Given the description of an element on the screen output the (x, y) to click on. 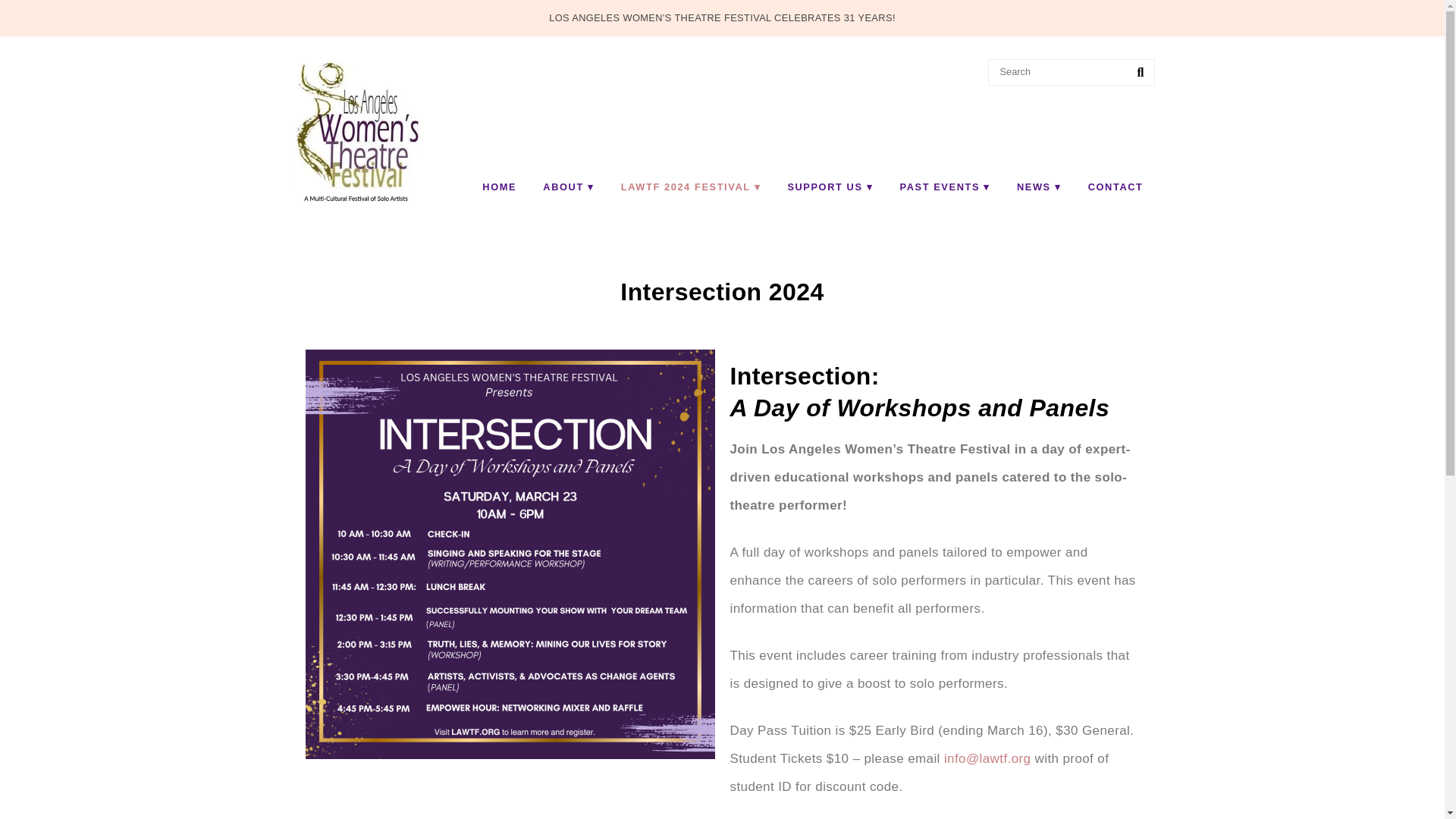
ABOUT (568, 186)
HOME (498, 186)
LAWTF 2024 FESTIVAL (690, 186)
SUPPORT US (829, 186)
